Given the description of an element on the screen output the (x, y) to click on. 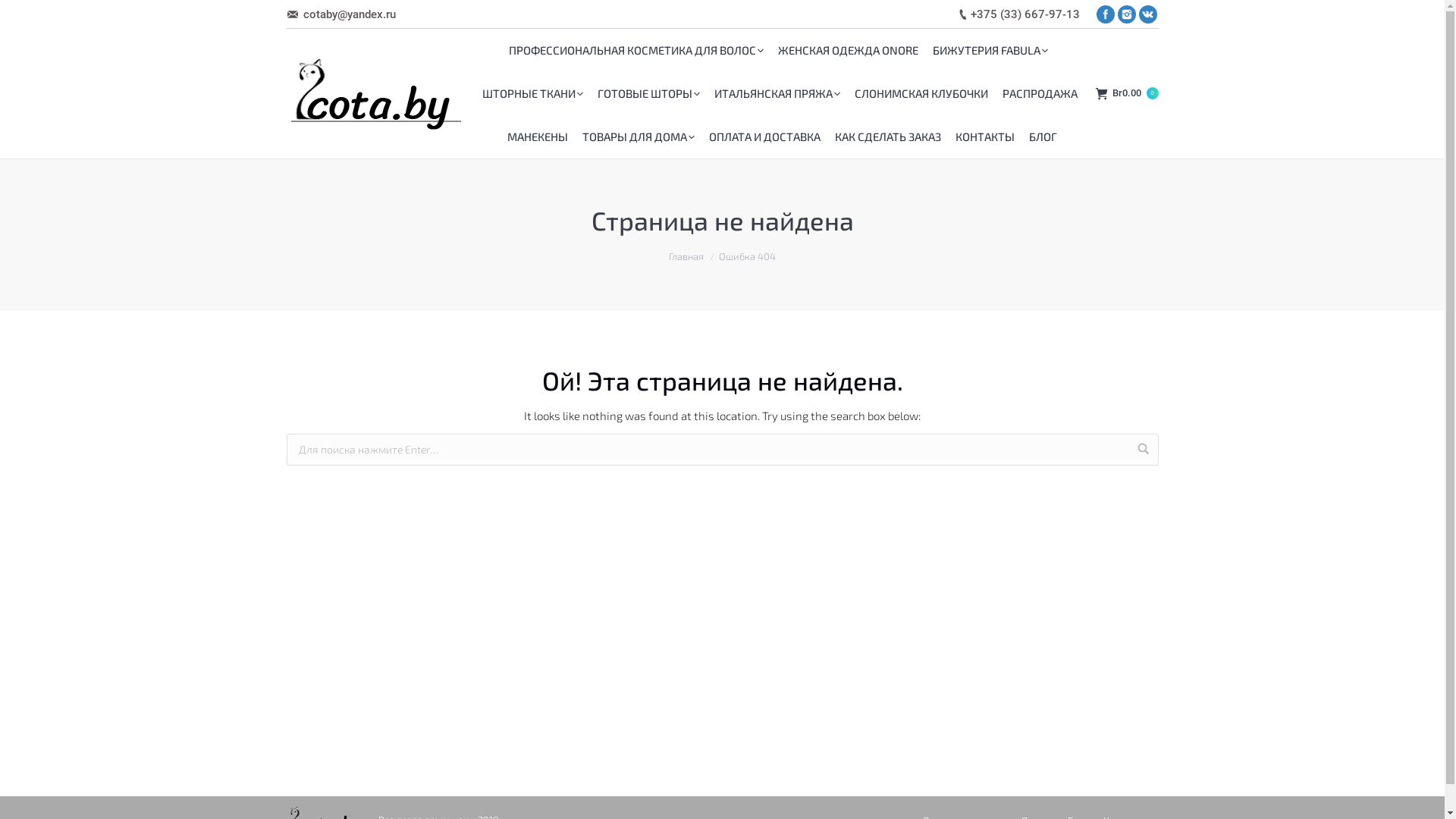
Facebook Element type: hover (1105, 14)
Instagram Element type: hover (1126, 14)
Br0.000 Element type: text (1126, 93)
